Given the description of an element on the screen output the (x, y) to click on. 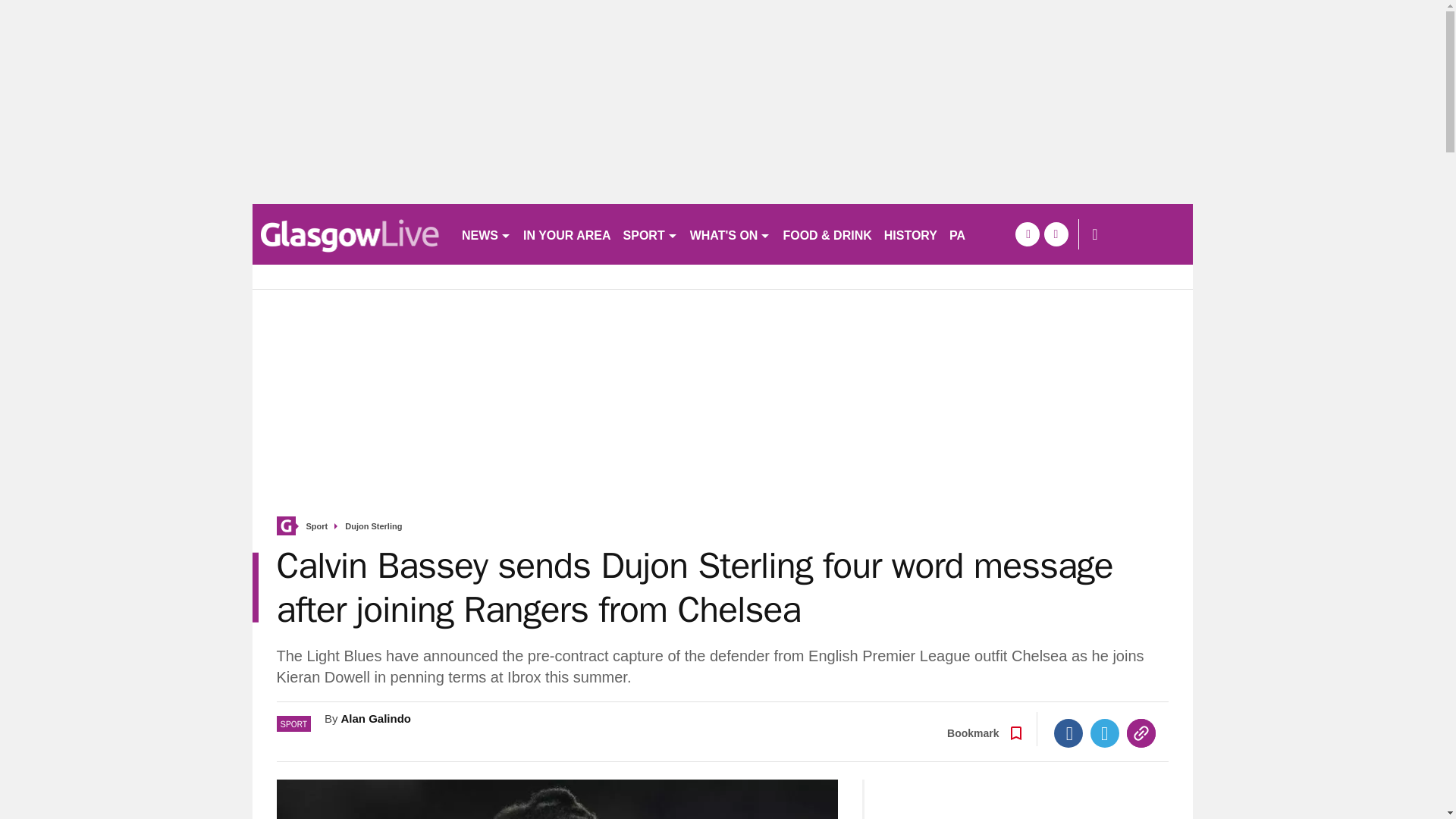
twitter (1055, 233)
PARTNER STORIES (1006, 233)
glasgowlive (349, 233)
NEWS (485, 233)
WHAT'S ON (730, 233)
Facebook (1068, 733)
HISTORY (910, 233)
IN YOUR AREA (566, 233)
Twitter (1104, 733)
facebook (1026, 233)
SPORT (650, 233)
